Given the description of an element on the screen output the (x, y) to click on. 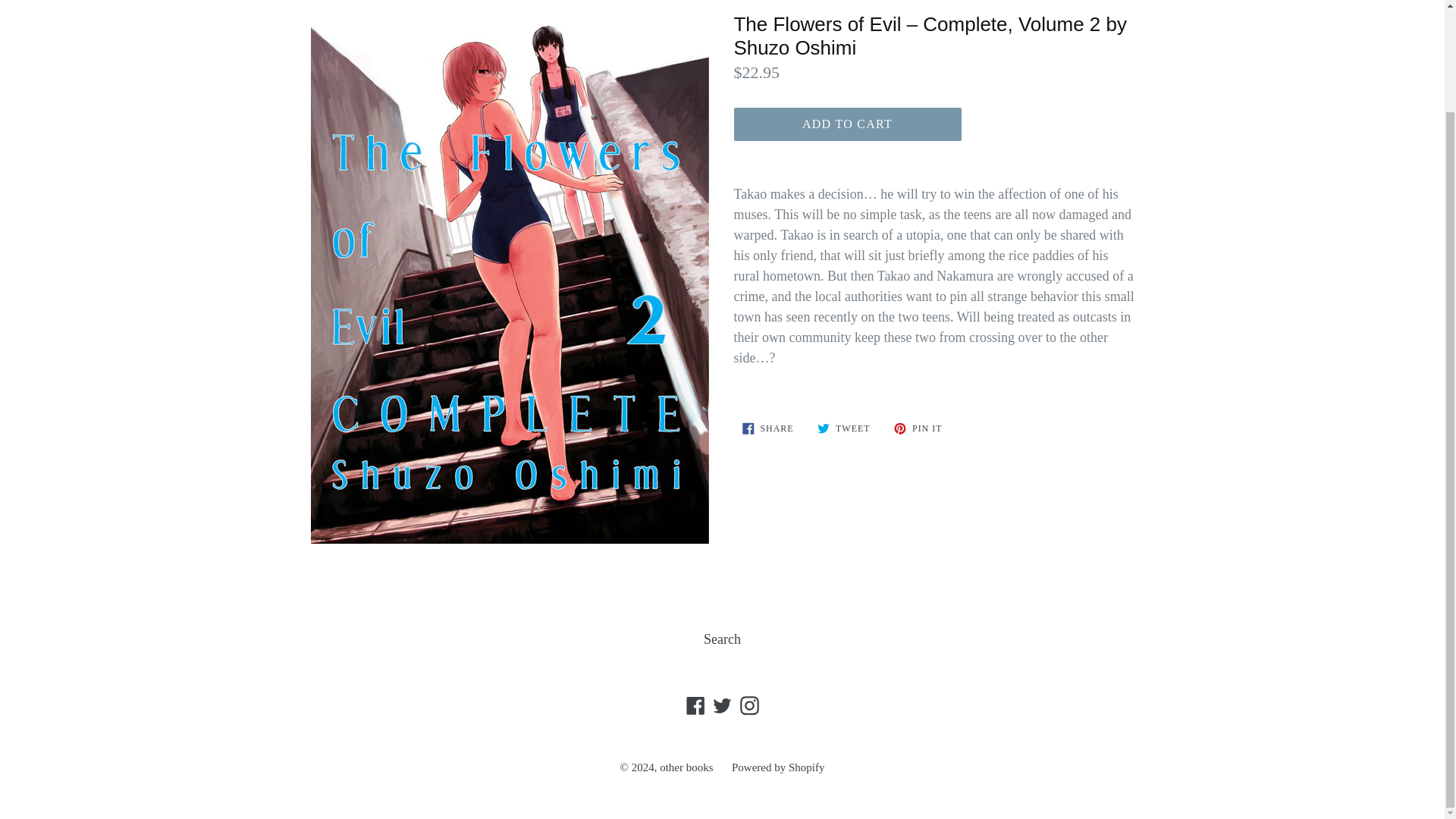
Share on Facebook (767, 428)
Pin on Pinterest (917, 428)
other books on Instagram (748, 704)
other books on Twitter (721, 704)
Tweet on Twitter (843, 428)
other books on Facebook (695, 704)
